Given the description of an element on the screen output the (x, y) to click on. 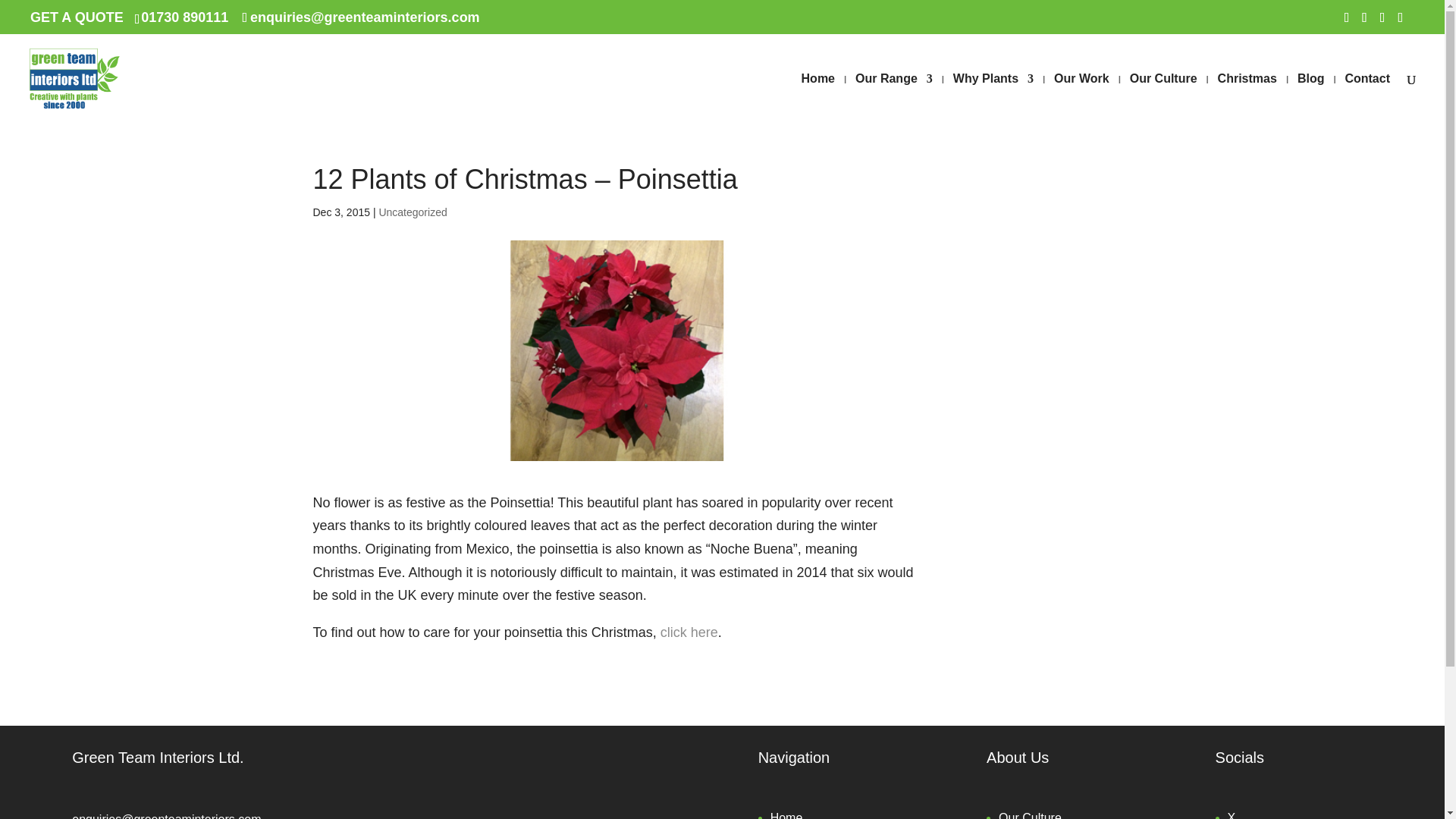
Our Culture (1162, 97)
Why Plants (993, 97)
GET A QUOTE (76, 16)
Our Work (1081, 97)
Our Range (894, 97)
Uncategorized (412, 212)
Christmas (1246, 97)
Contact (1366, 97)
Blog (1310, 97)
Home (818, 97)
